Given the description of an element on the screen output the (x, y) to click on. 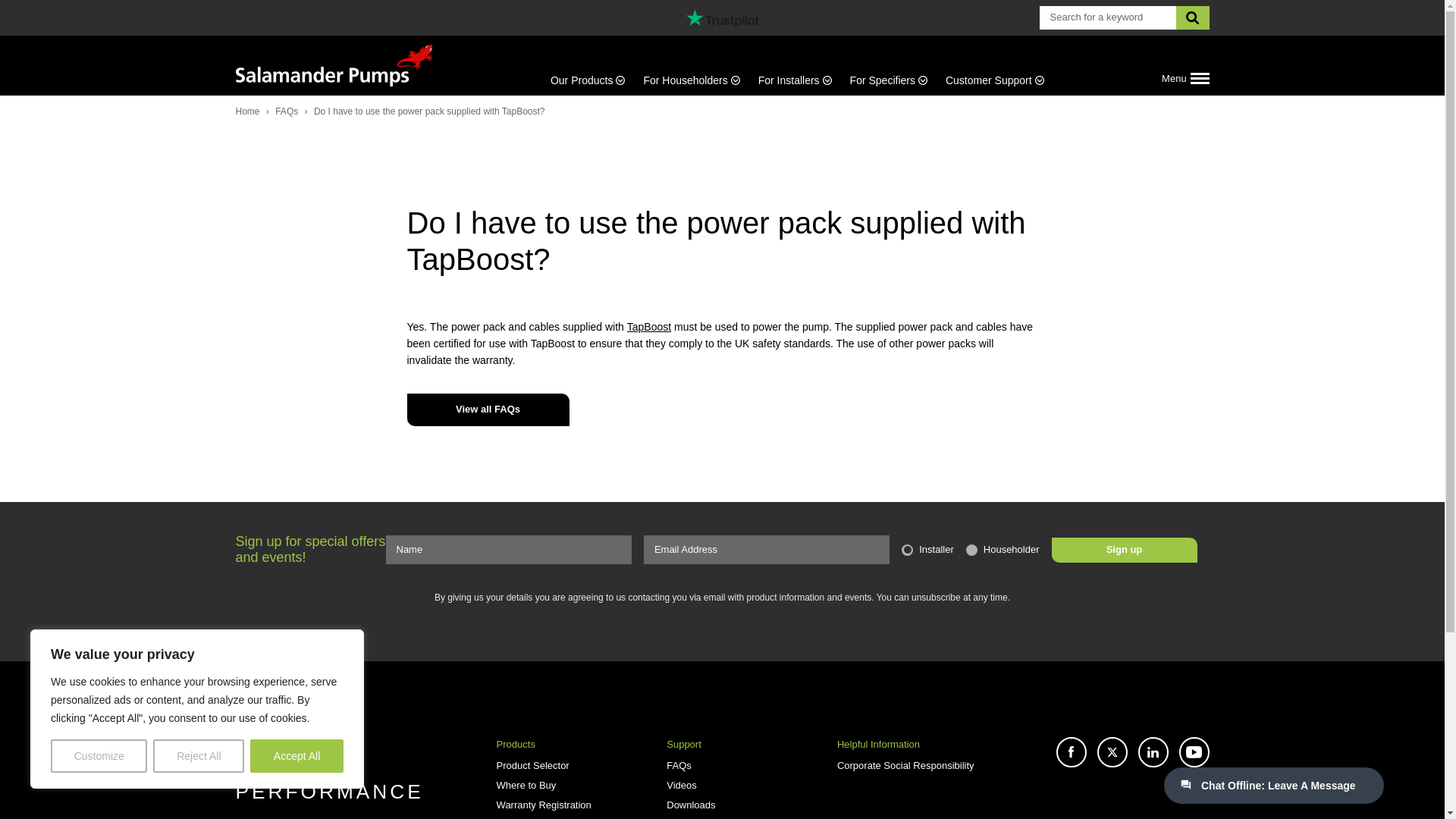
Customer reviews powered by Trustpilot (721, 18)
For Installers (795, 80)
For Specifiers (888, 80)
Return to the Salamander Pumps homepage (333, 65)
Customize (98, 756)
Search the Salamander Pumps website (1106, 17)
Reject All (198, 756)
Customer Support (989, 80)
Accept All (296, 756)
For Householders (690, 80)
Our Products (591, 80)
Sign up (1123, 549)
